Given the description of an element on the screen output the (x, y) to click on. 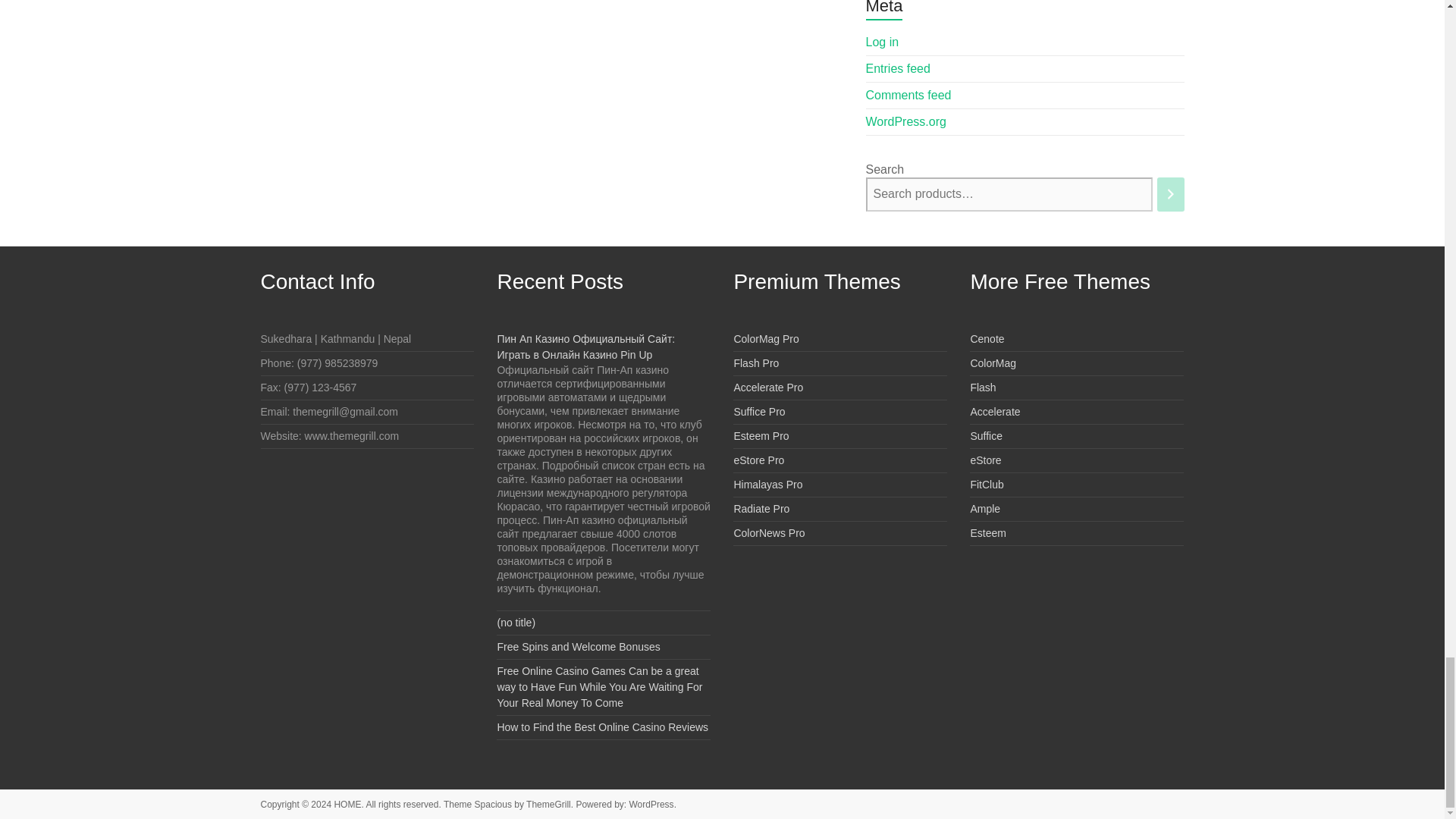
Accelerate Pro (768, 387)
ColorMag (992, 363)
Flash Pro (755, 363)
Esteem Pro (761, 435)
ColorMag Pro (765, 338)
Suffice Pro (758, 411)
Radiate Pro (761, 508)
Cenote (986, 338)
ColorNews Pro (769, 532)
eStore Pro (758, 460)
Himalayas Pro (767, 484)
